Given the description of an element on the screen output the (x, y) to click on. 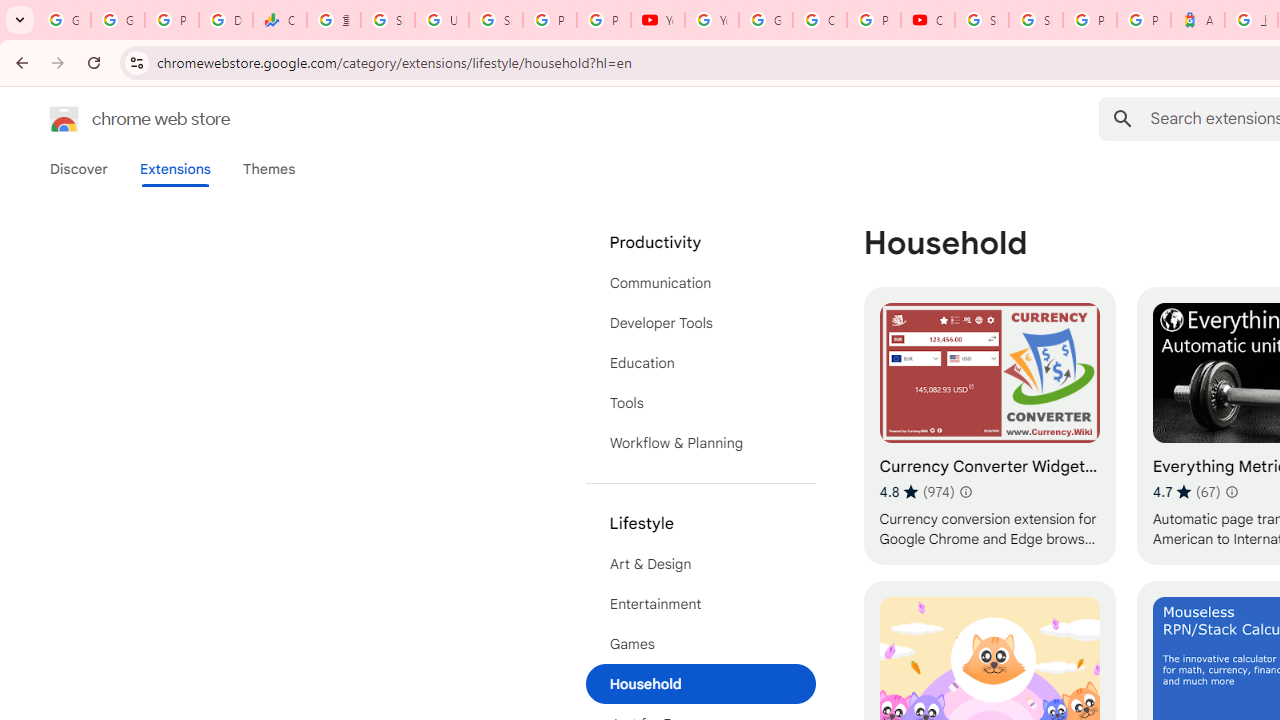
YouTube (711, 20)
Education (700, 362)
Extensions (174, 169)
Google Account Help (765, 20)
Themes (269, 169)
Google Workspace Admin Community (63, 20)
Entertainment (700, 603)
Communication (700, 282)
